Given the description of an element on the screen output the (x, y) to click on. 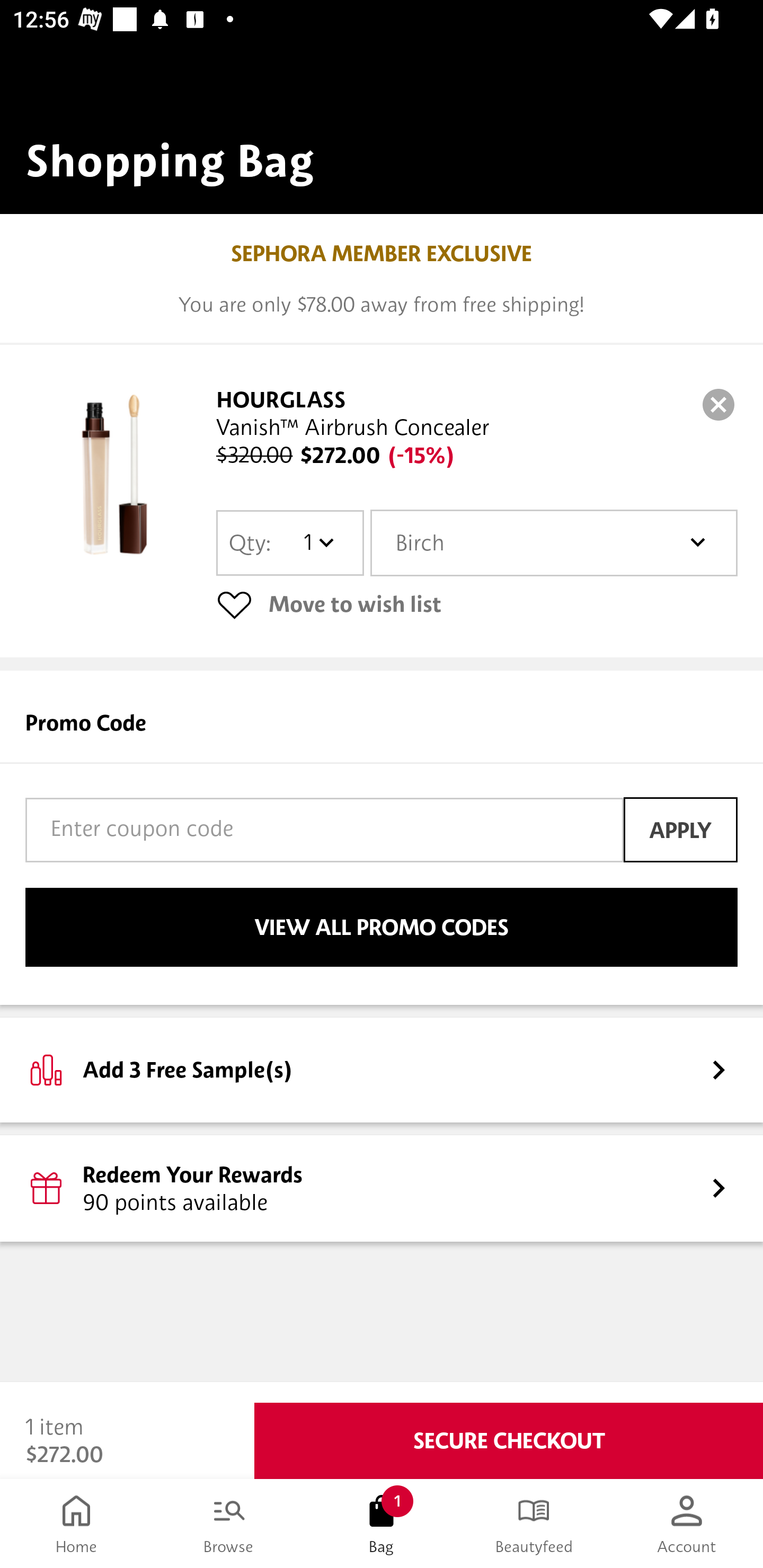
Birch (553, 542)
1 (317, 542)
Move to wish list (476, 604)
APPLY (680, 829)
Enter coupon code (324, 830)
VIEW ALL PROMO CODES (381, 927)
Add 3 Free Sample(s) (381, 1069)
Redeem Your Rewards 90 points available (381, 1188)
SECURE CHECKOUT (508, 1440)
Home (76, 1523)
Browse (228, 1523)
Beautyfeed (533, 1523)
Account (686, 1523)
